Given the description of an element on the screen output the (x, y) to click on. 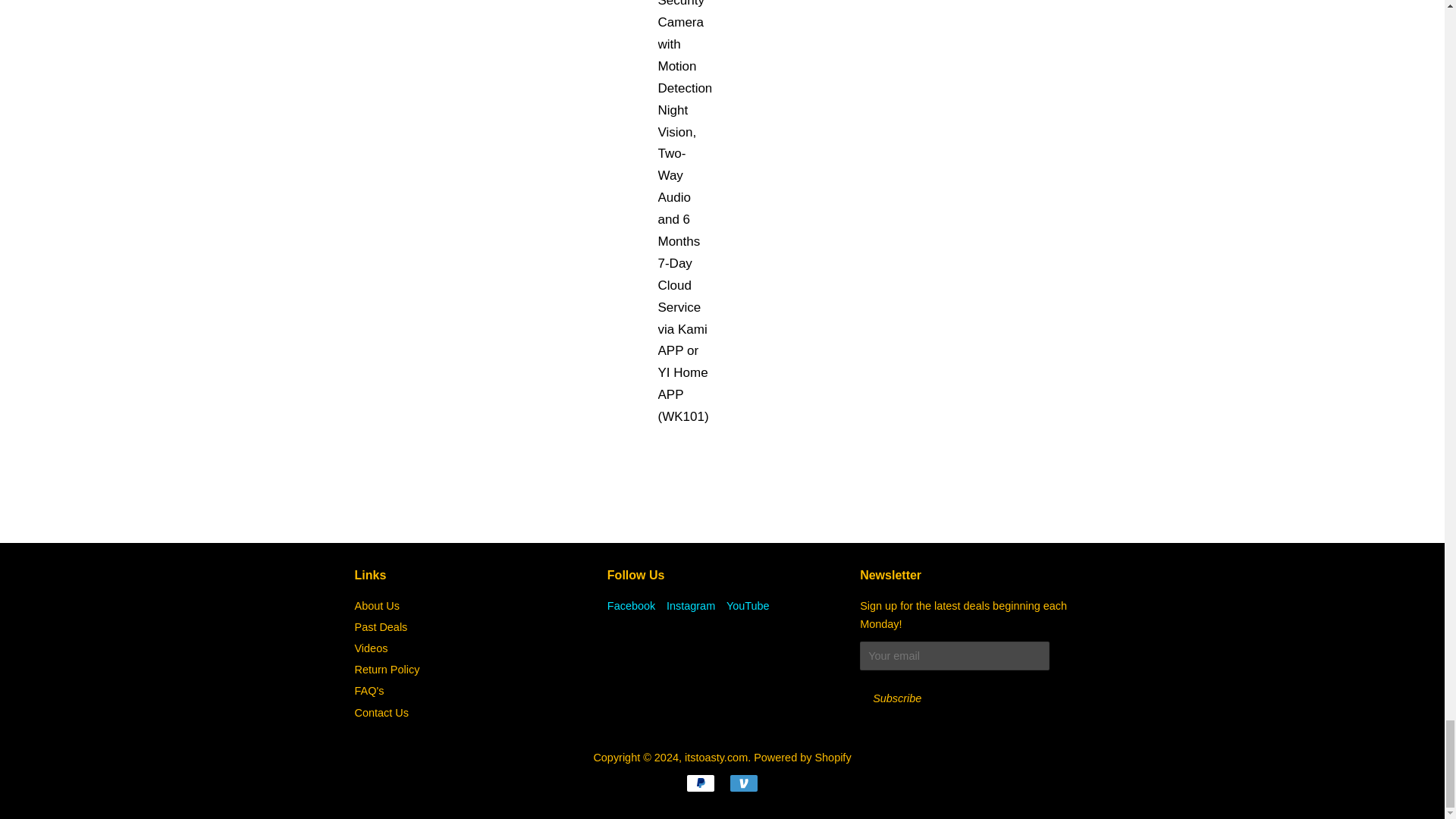
Past Deals (381, 626)
Return Policy (387, 669)
itstoasty.com on YouTube (748, 605)
Subscribe (897, 697)
Contact Us (382, 711)
Videos (371, 648)
Facebook (631, 605)
PayPal (699, 782)
FAQ's (369, 690)
itstoasty.com on Instagram (690, 605)
